Given the description of an element on the screen output the (x, y) to click on. 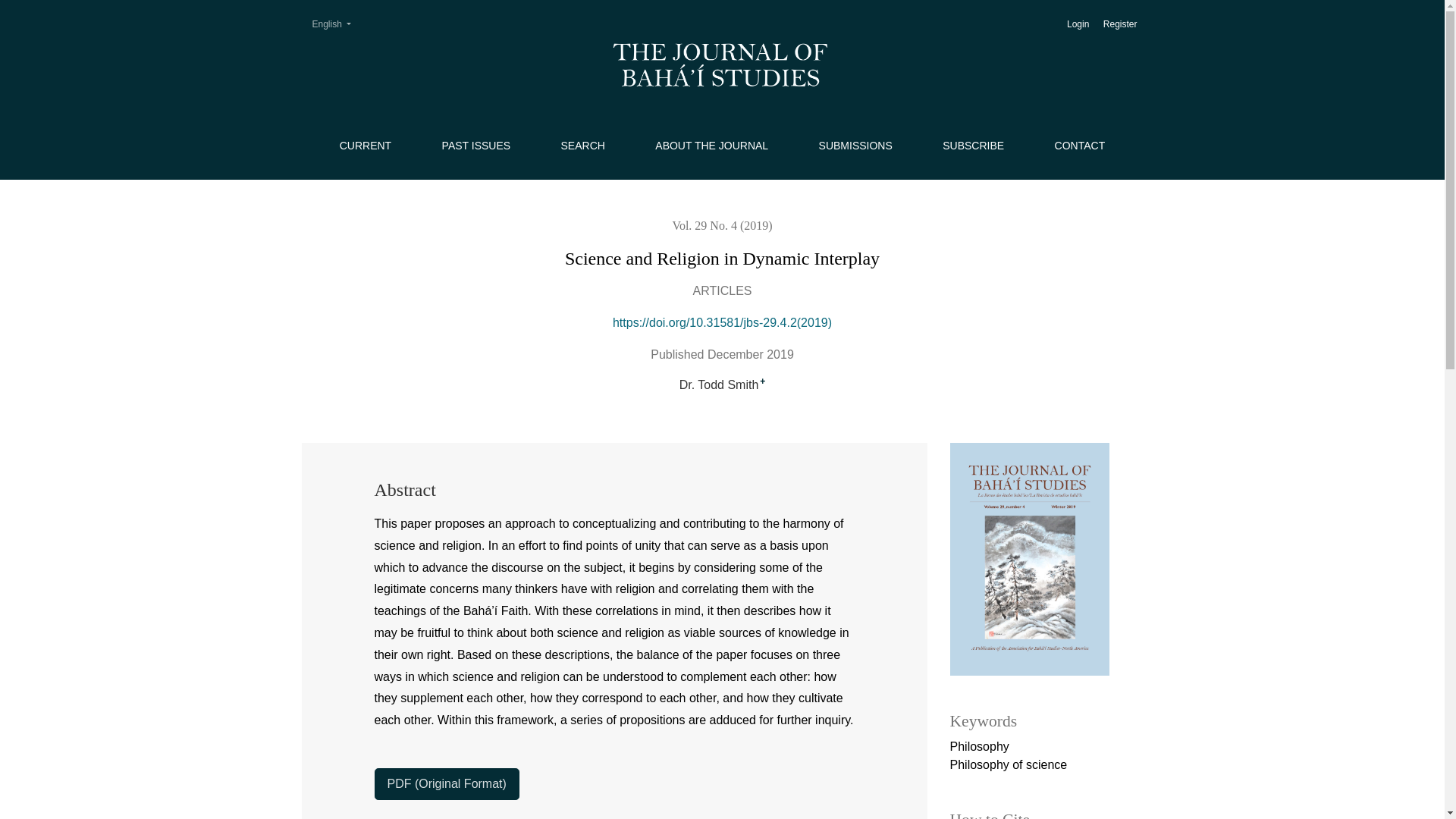
ABOUT THE JOURNAL (711, 145)
CURRENT (365, 145)
SUBMISSIONS (855, 145)
CONTACT (1080, 145)
Login (1077, 24)
PAST ISSUES (476, 145)
SEARCH (582, 145)
Register (1119, 24)
SUBSCRIBE (973, 145)
